Given the description of an element on the screen output the (x, y) to click on. 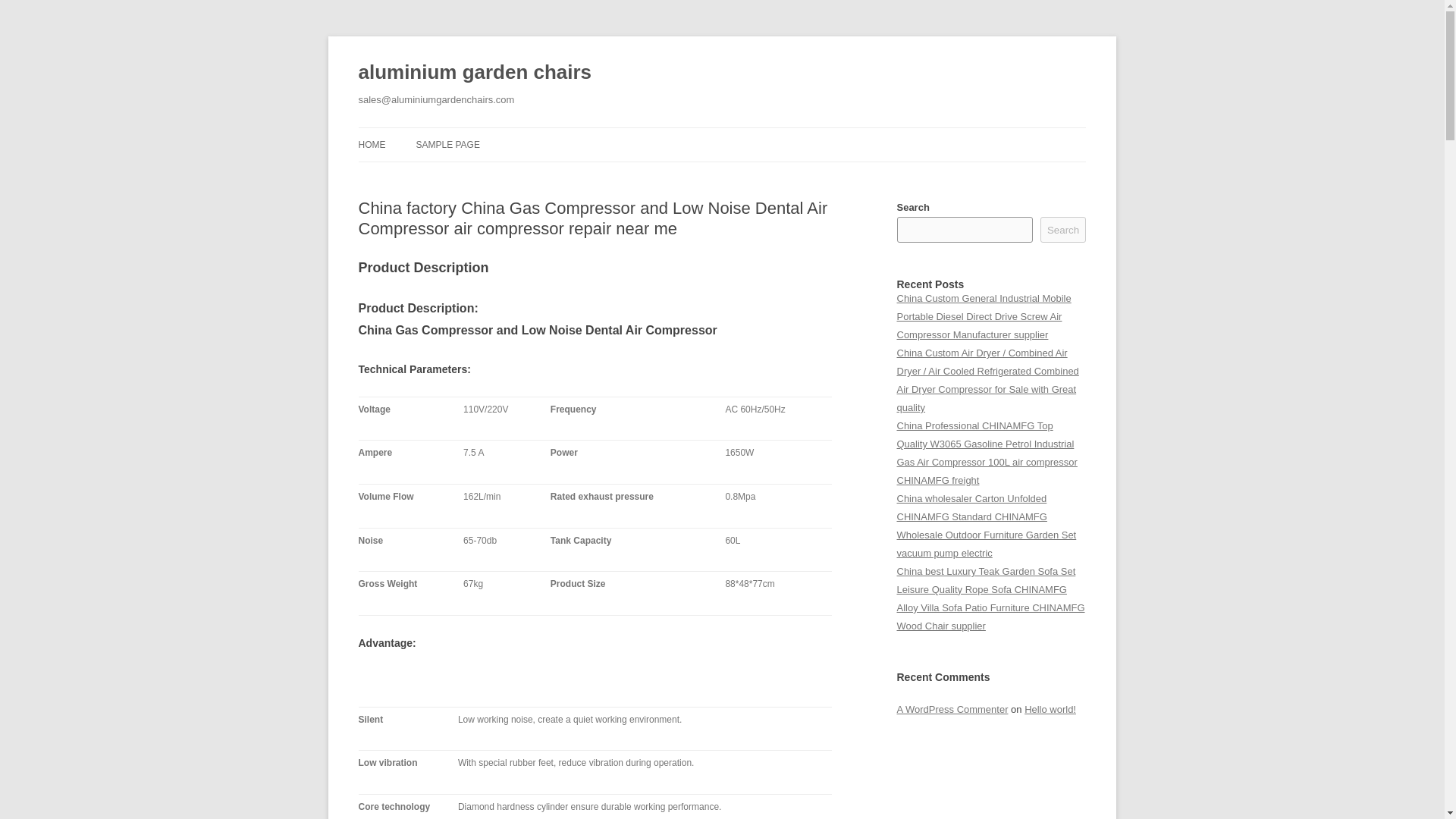
Search (1063, 229)
Hello world! (1050, 708)
aluminium garden chairs (474, 72)
SAMPLE PAGE (446, 144)
A WordPress Commenter (951, 708)
